Given the description of an element on the screen output the (x, y) to click on. 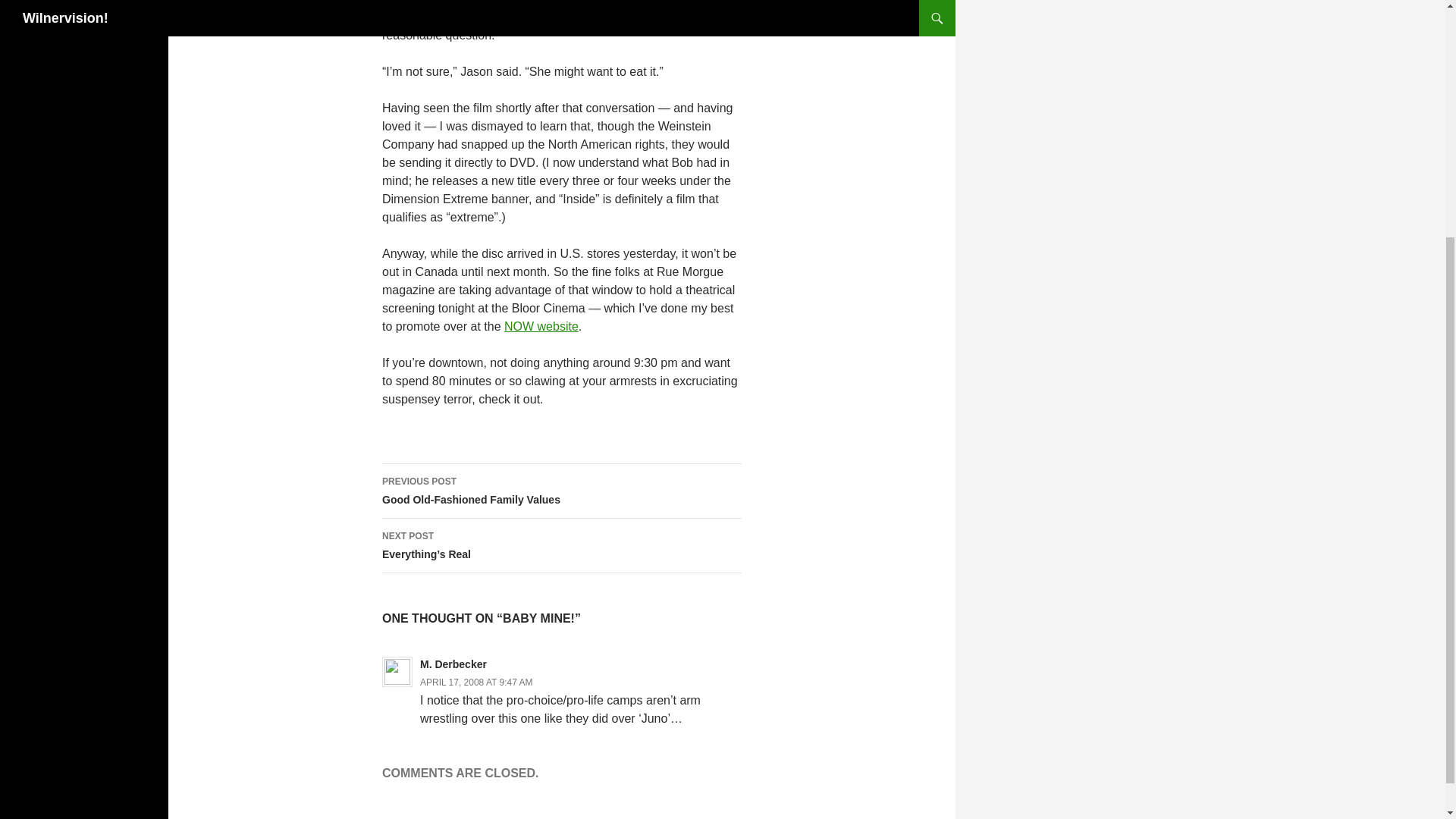
M. Derbecker (453, 664)
APRIL 17, 2008 AT 9:47 AM (561, 491)
NOW website (476, 682)
